Given the description of an element on the screen output the (x, y) to click on. 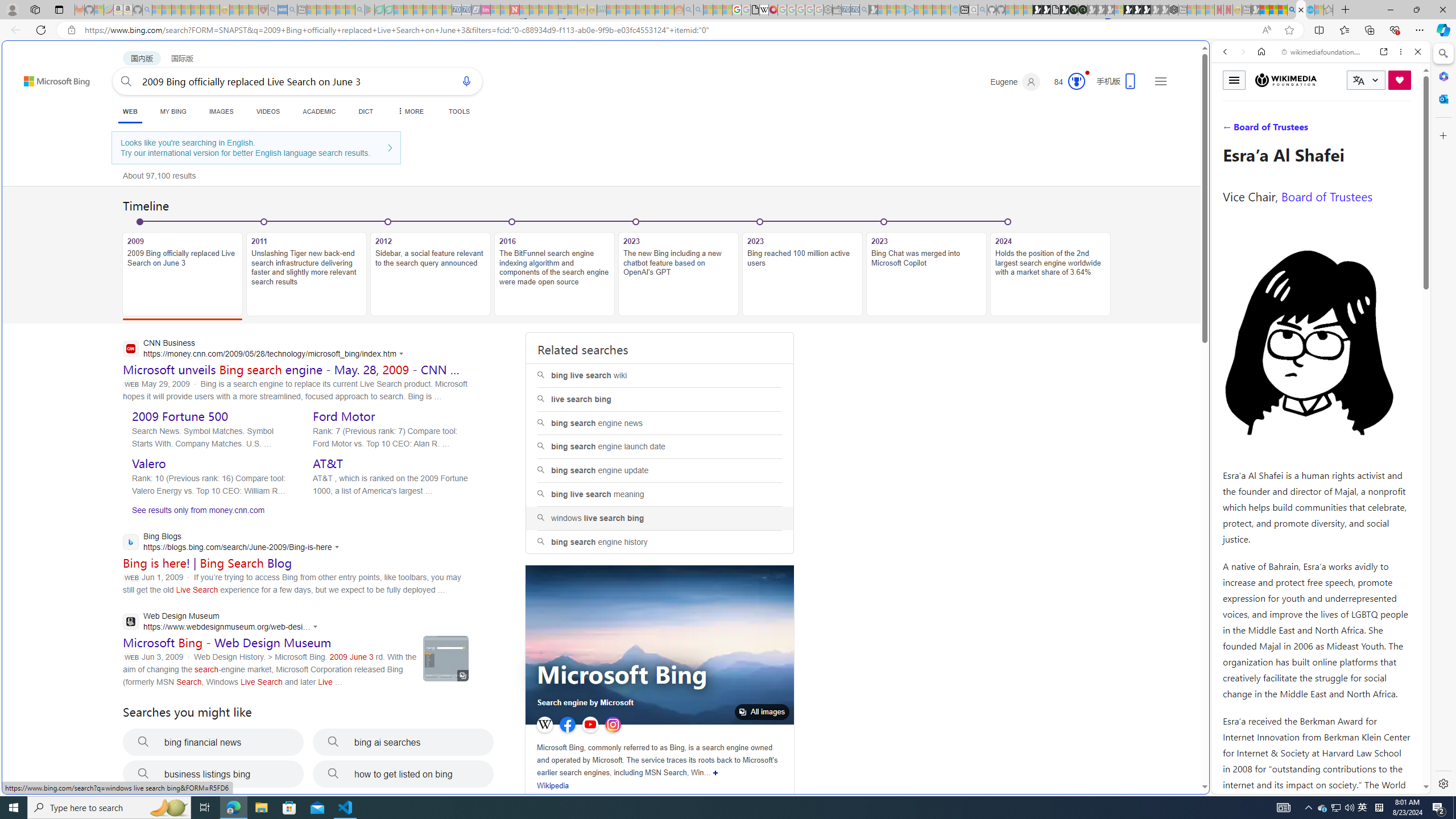
MY BING (172, 111)
live search bing (659, 399)
Future Focus Report 2024 (1082, 9)
bing search engine history (659, 541)
bing ai searches (403, 741)
Search Filter, Search Tools (1350, 129)
